Given the description of an element on the screen output the (x, y) to click on. 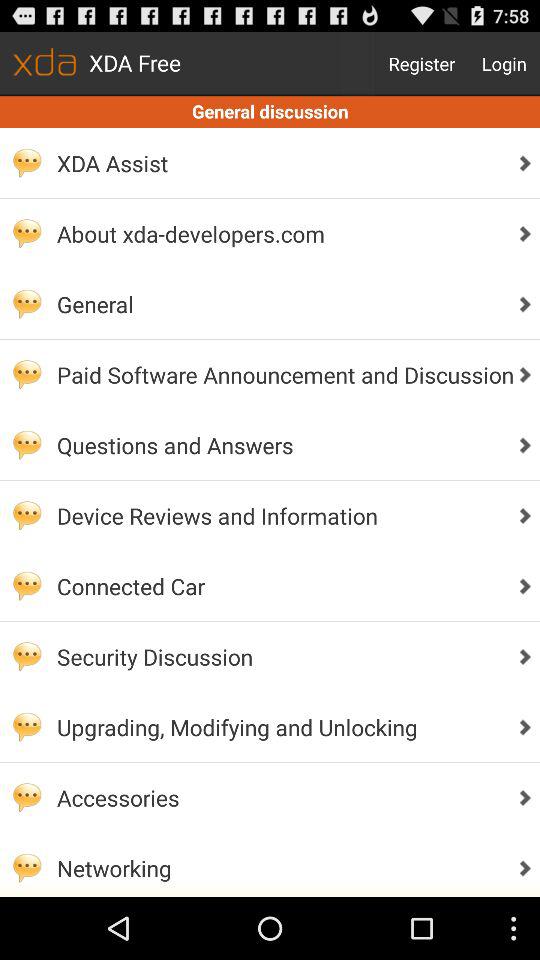
swipe to accessories (280, 797)
